Given the description of an element on the screen output the (x, y) to click on. 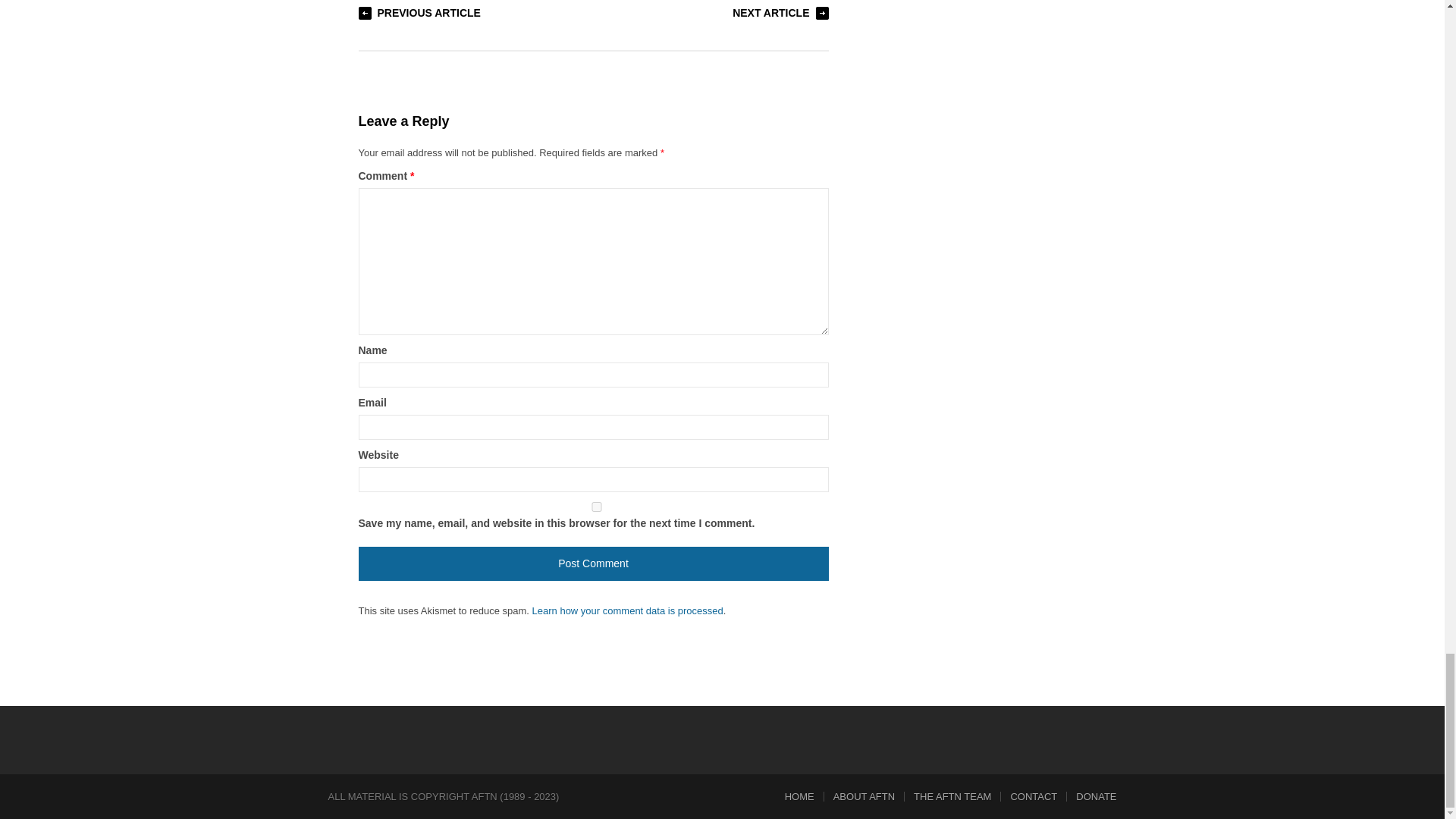
yes (596, 506)
Post Comment (593, 563)
